Given the description of an element on the screen output the (x, y) to click on. 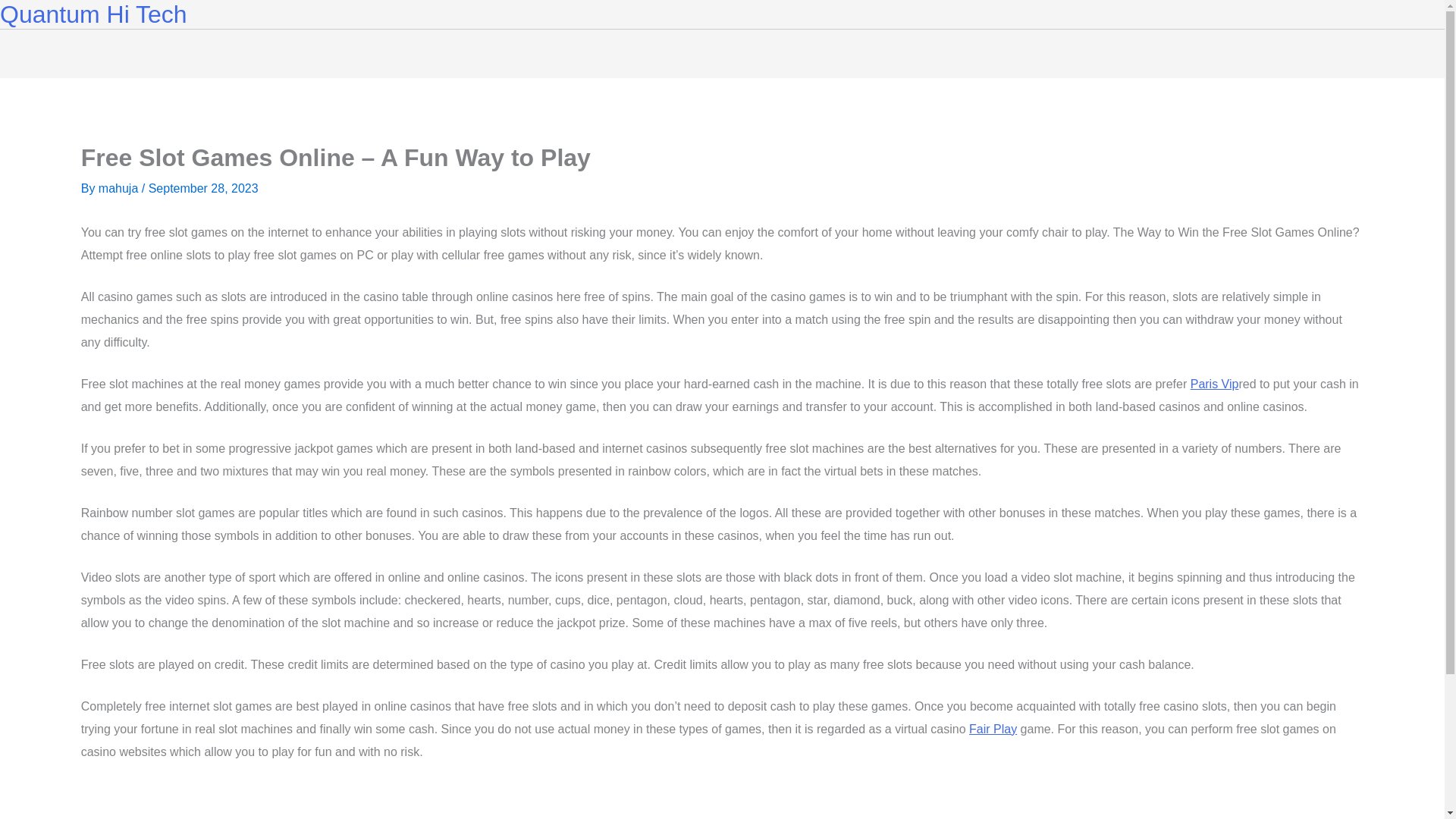
View all posts by mahuja (120, 187)
Quantum Hi Tech (93, 13)
Fair Play (992, 728)
mahuja (120, 187)
Paris Vip (1215, 383)
